Given the description of an element on the screen output the (x, y) to click on. 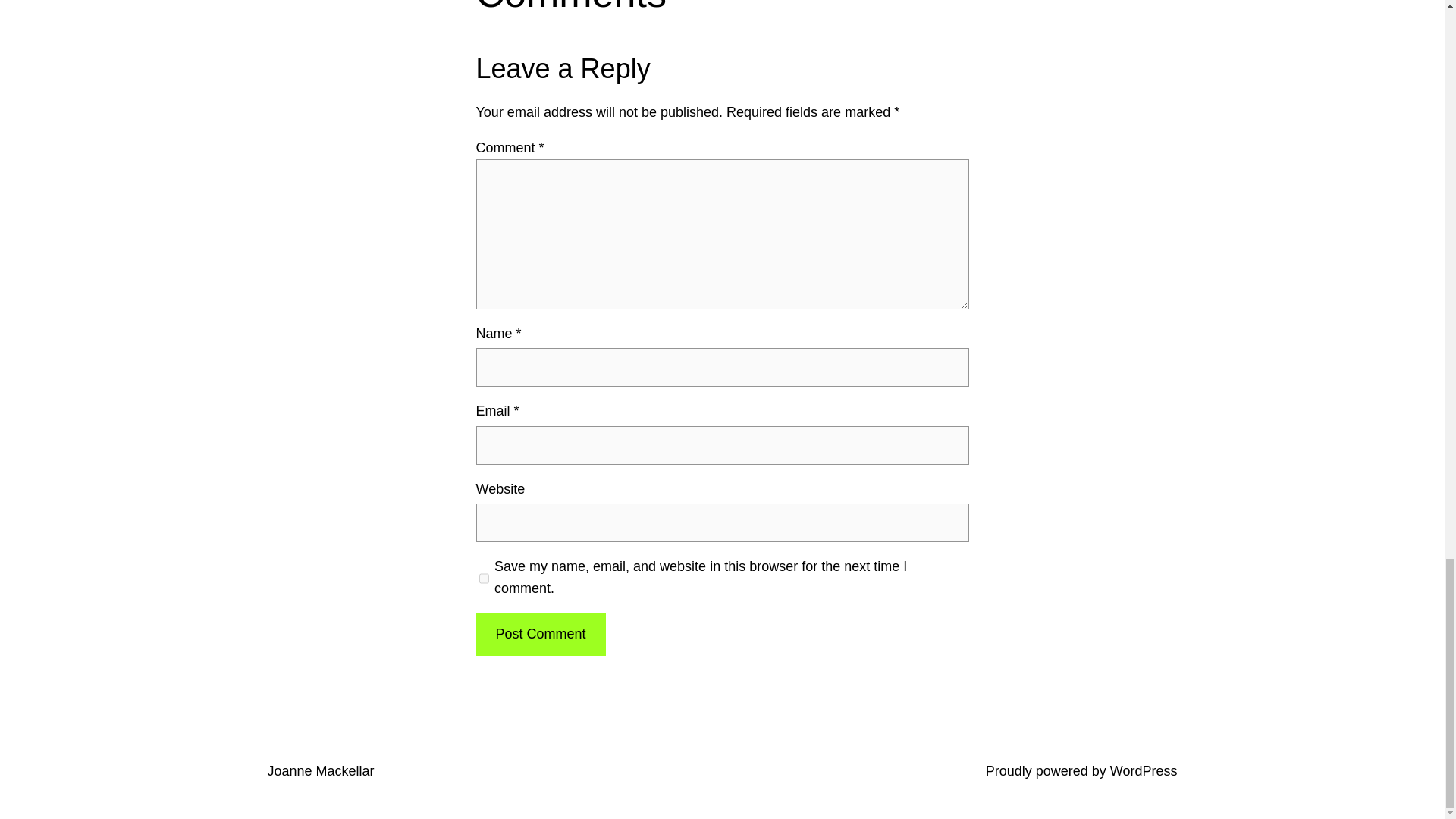
WordPress (1143, 770)
Post Comment (540, 634)
Joanne Mackellar (320, 770)
Post Comment (540, 634)
